Given the description of an element on the screen output the (x, y) to click on. 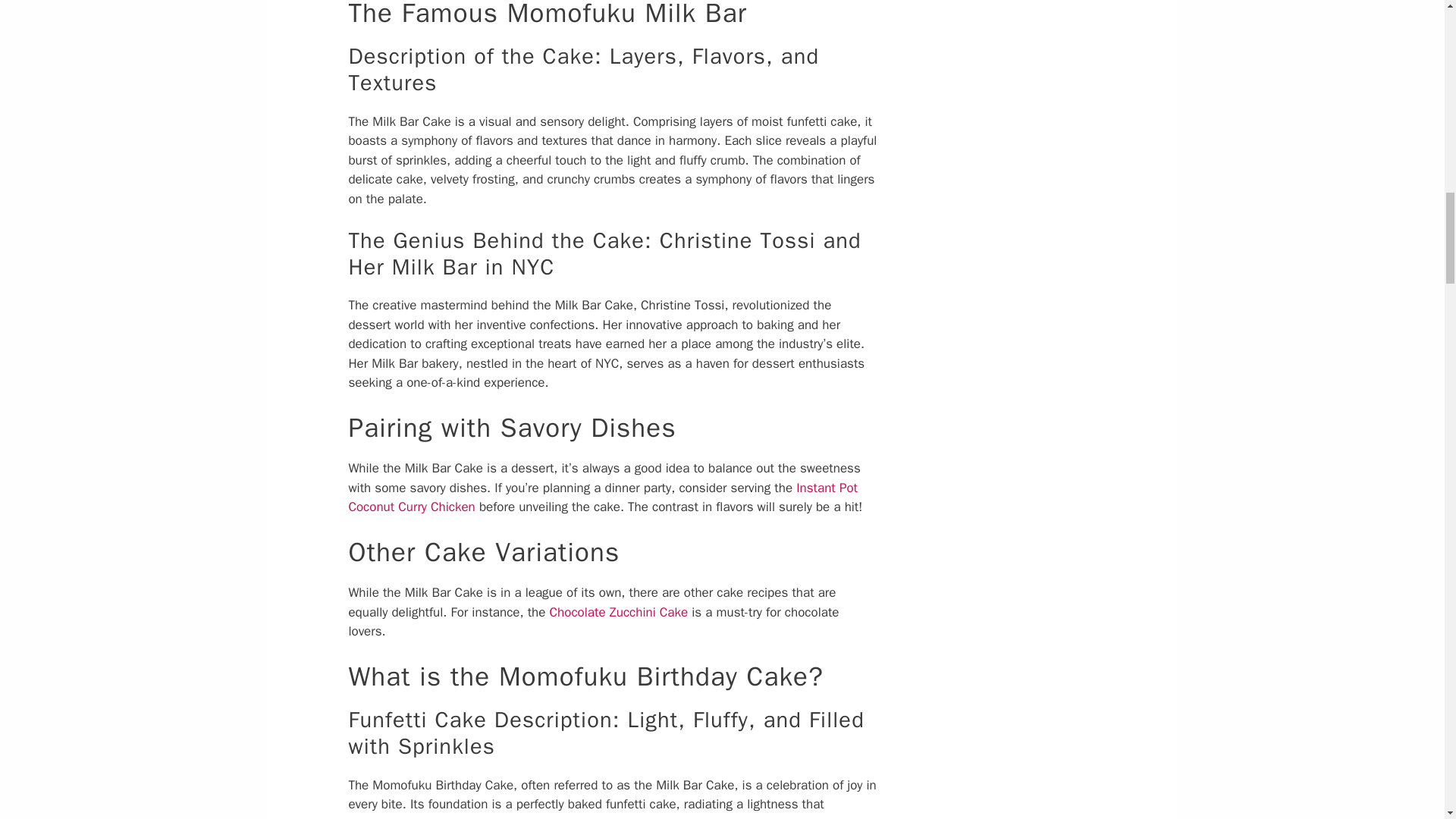
Instant Pot Coconut Curry Chicken (602, 497)
Chocolate Zucchini Cake (619, 611)
